Given the description of an element on the screen output the (x, y) to click on. 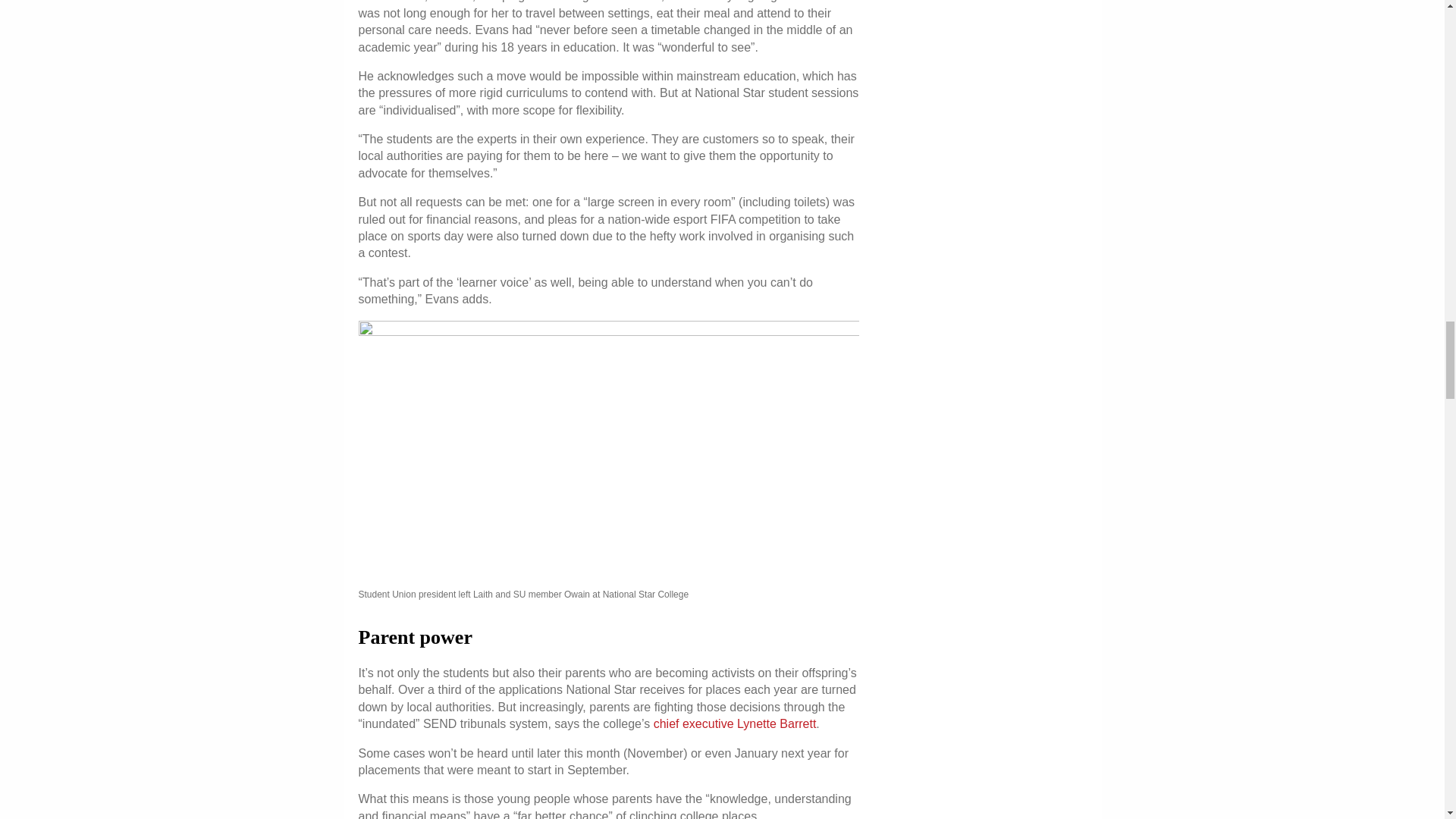
chief executive Lynette Barrett (734, 723)
